Given the description of an element on the screen output the (x, y) to click on. 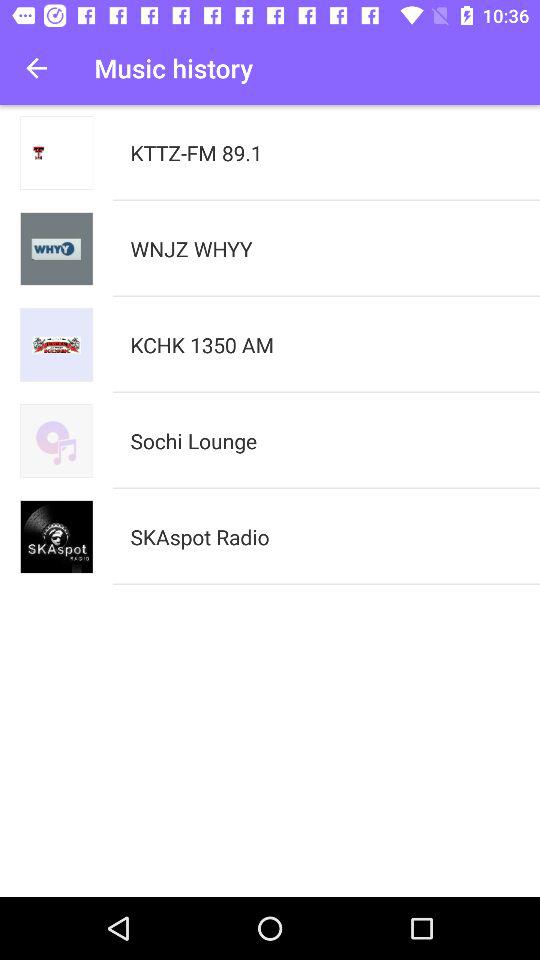
launch the item next to music history icon (36, 68)
